Given the description of an element on the screen output the (x, y) to click on. 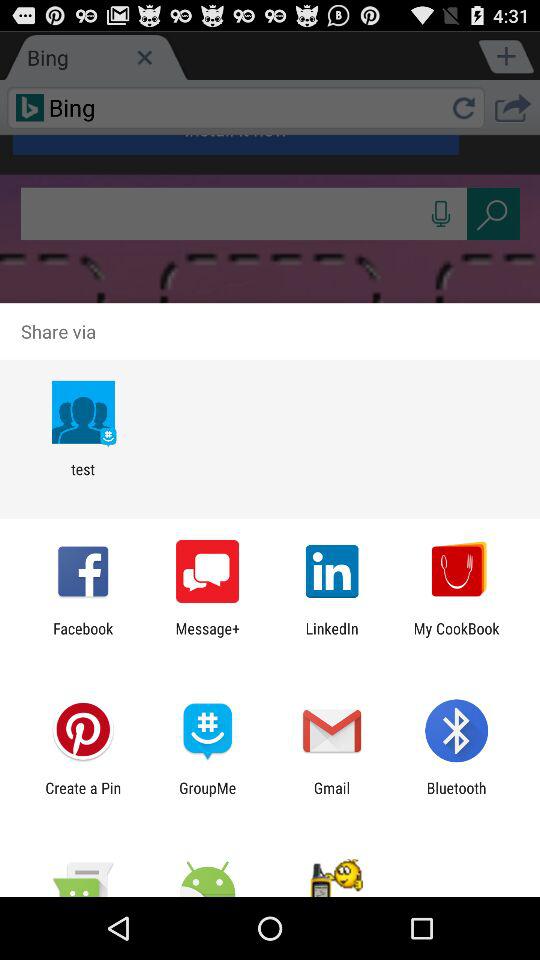
choose the item next to gmail item (456, 796)
